Given the description of an element on the screen output the (x, y) to click on. 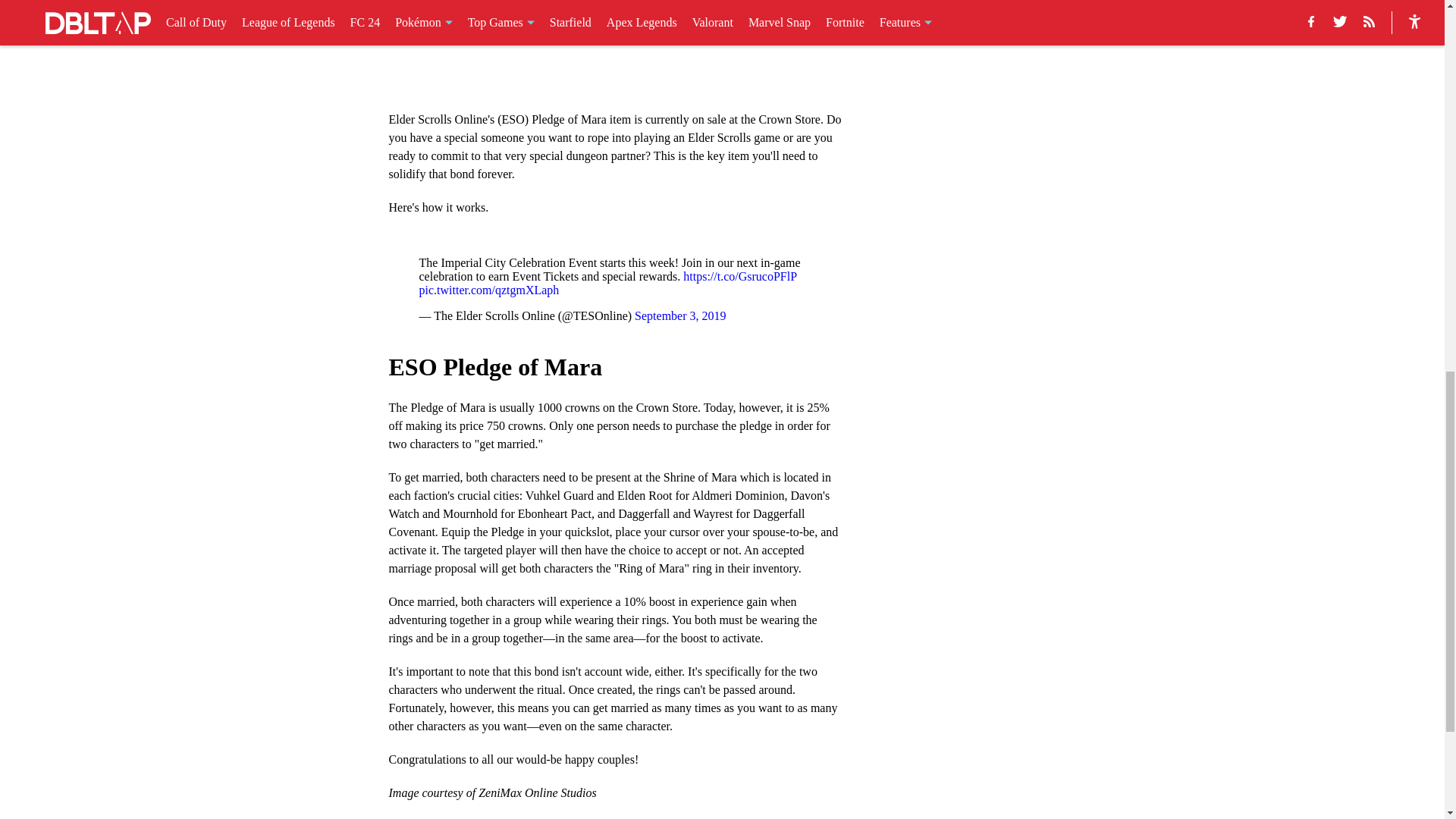
September 3, 2019 (679, 315)
